Given the description of an element on the screen output the (x, y) to click on. 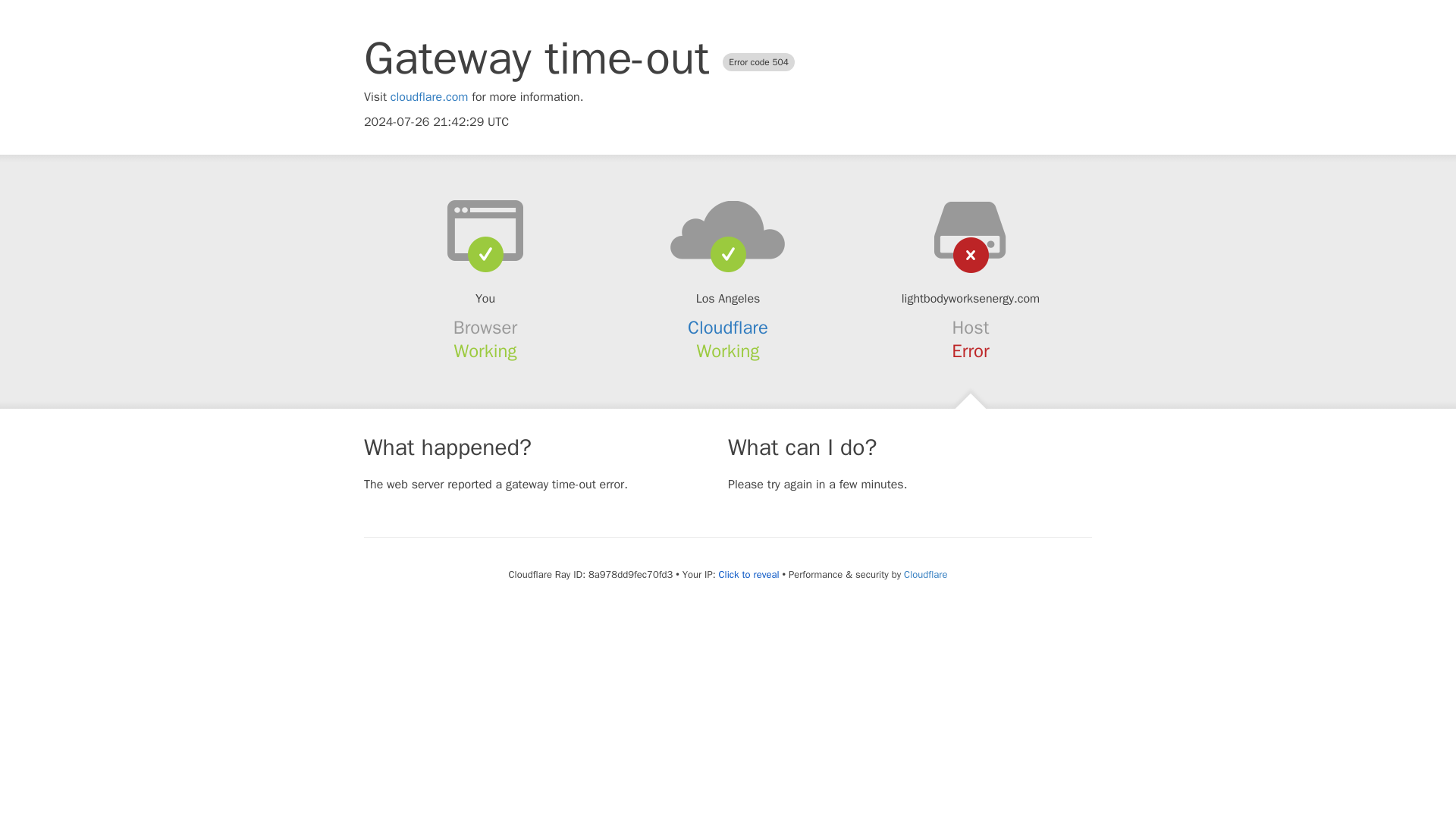
Click to reveal (748, 574)
cloudflare.com (429, 96)
Cloudflare (925, 574)
Cloudflare (727, 327)
